Given the description of an element on the screen output the (x, y) to click on. 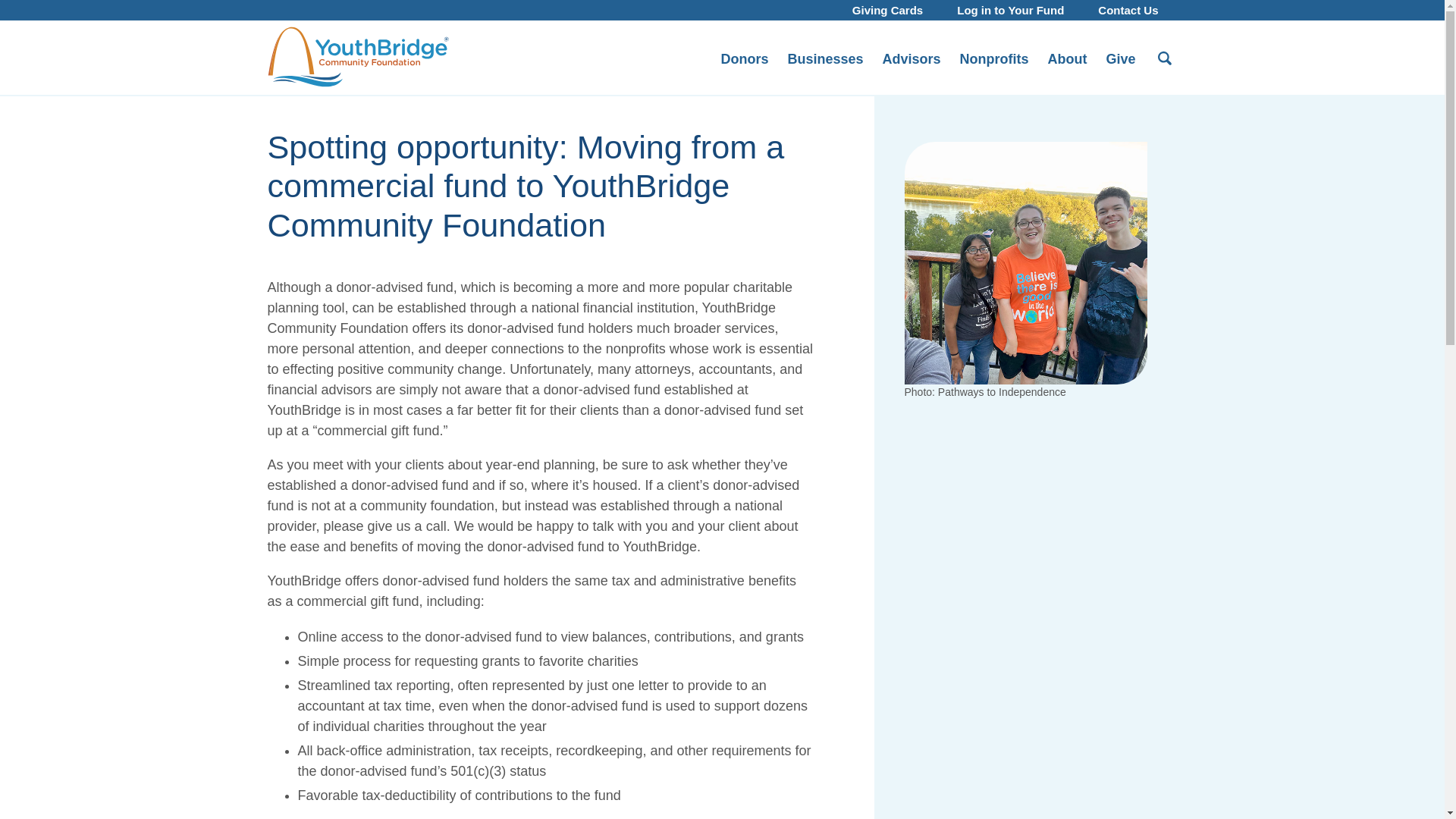
Giving Cards (887, 9)
Nonprofits (994, 58)
Log in to Your Fund (1010, 9)
YouthBridge Community Foundation of Greater St. Louis (357, 57)
Advisors (911, 58)
Businesses (824, 58)
Contact Us (1128, 9)
Give (1119, 58)
About (1066, 58)
Donors (744, 58)
Log in to Your Fund (1010, 9)
